Given the description of an element on the screen output the (x, y) to click on. 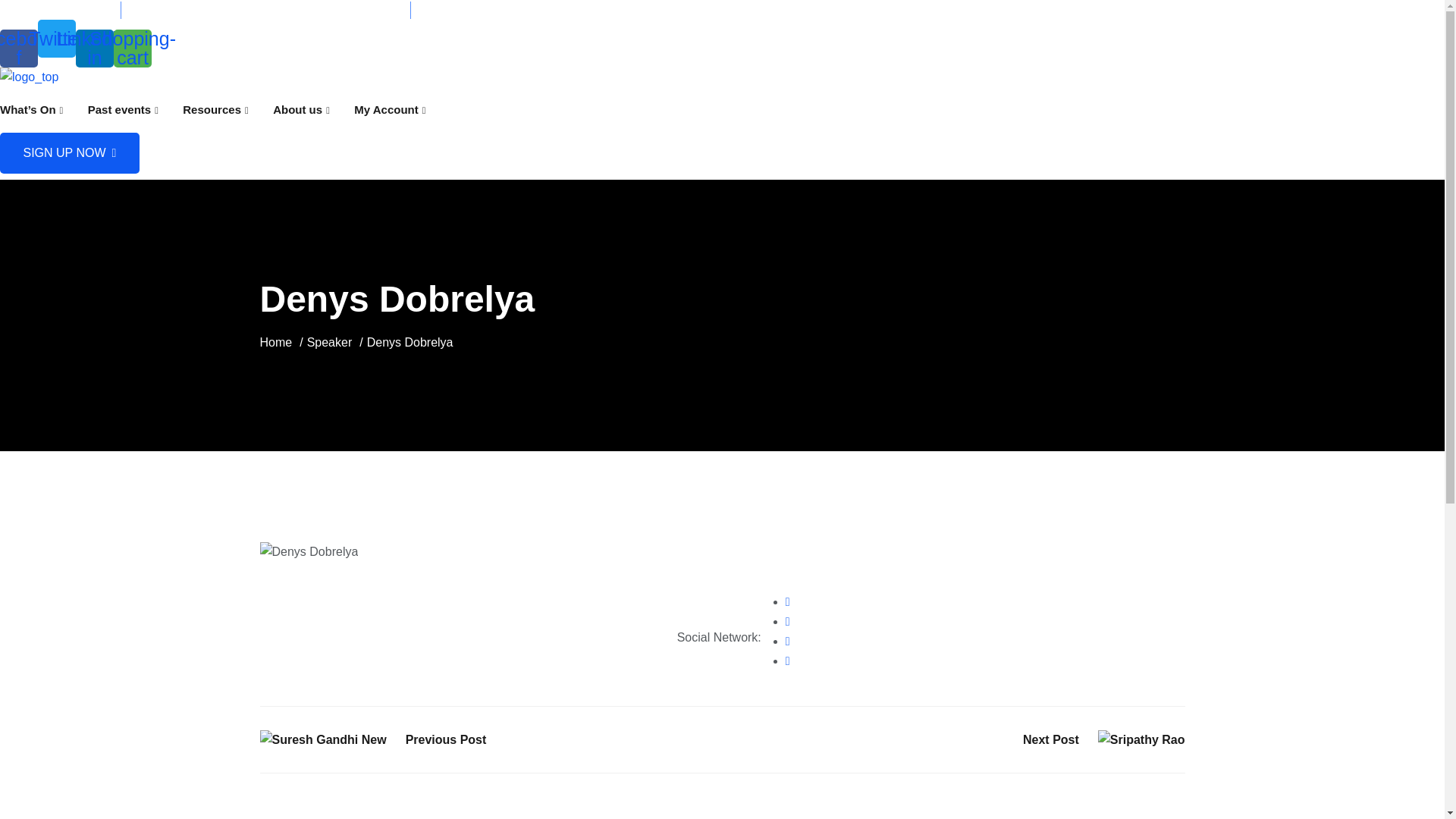
Shopping-cart (132, 47)
12A Gordon Road, Black Forest, SA 5035, Australia (265, 9)
Linkedin-in (94, 47)
Facebook-f (18, 47)
Twitter (56, 38)
Join Mailing List (471, 9)
Past events (122, 109)
